Given the description of an element on the screen output the (x, y) to click on. 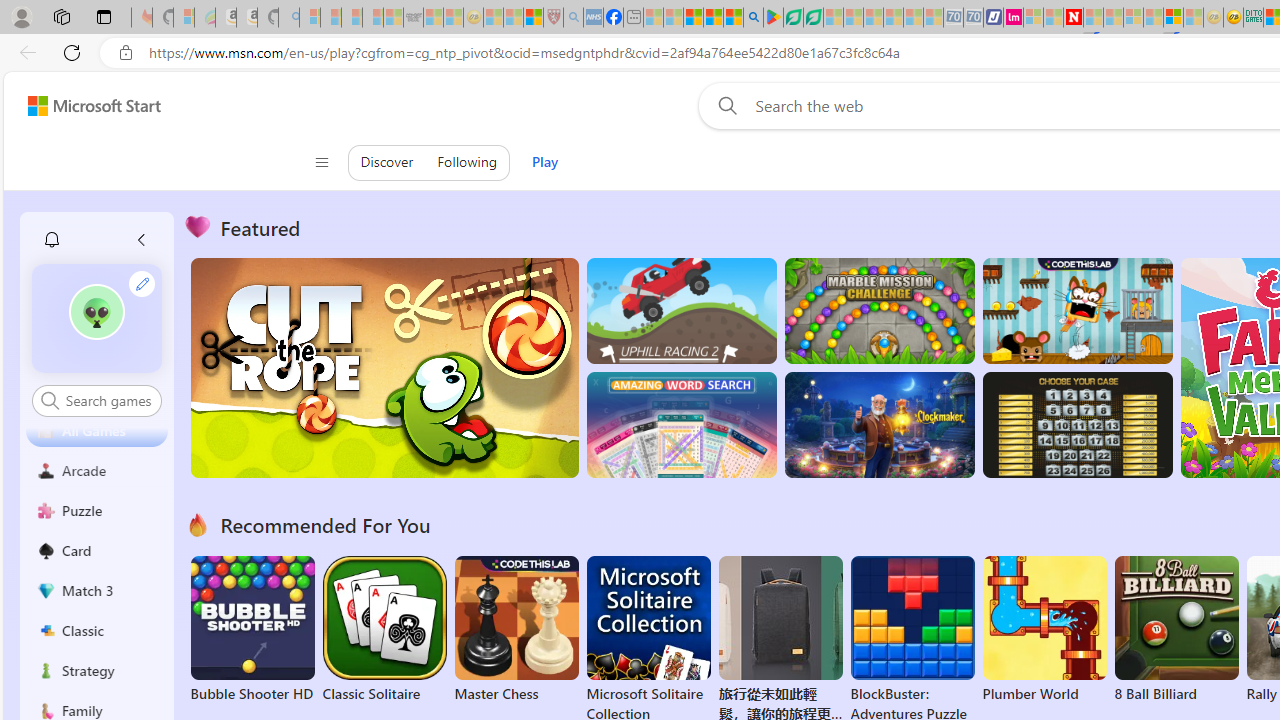
Bluey: Let's Play! - Apps on Google Play (773, 17)
Deal or No Deal (1076, 425)
Class: search-icon (50, 400)
Local - MSN (532, 17)
Microsoft Word - consumer-privacy address update 2.2021 (813, 17)
